Given the description of an element on the screen output the (x, y) to click on. 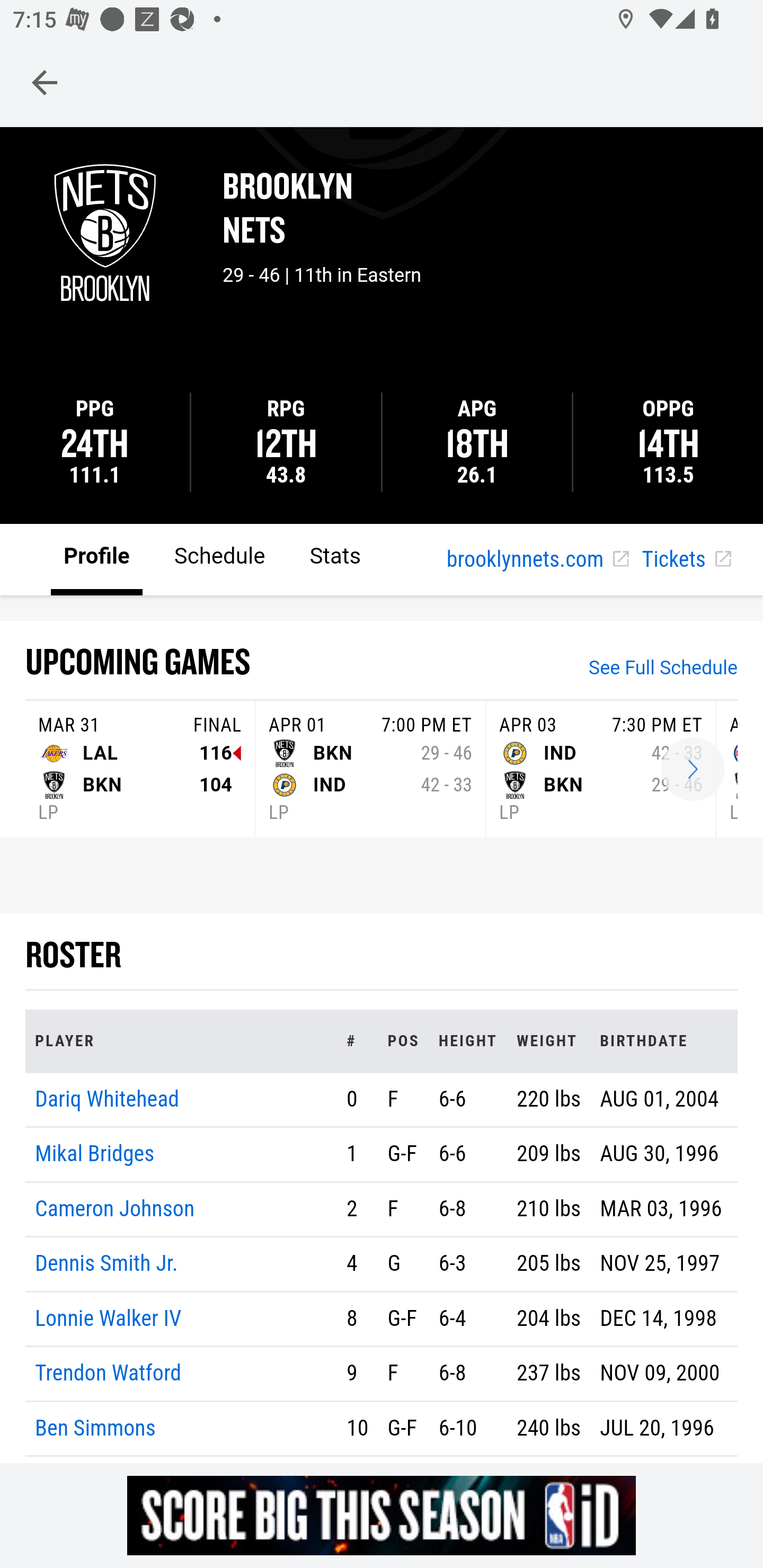
Navigate up (44, 82)
Profile (97, 558)
Schedule (219, 558)
Stats (335, 558)
brooklynnets.com (536, 560)
Tickets (685, 560)
See Full Schedule (662, 669)
Match-up Scores (692, 769)
Dariq Whitehead (107, 1098)
Mikal Bridges (95, 1154)
Cameron Johnson (115, 1207)
Dennis Smith Jr. (106, 1264)
Lonnie Walker IV (109, 1317)
Trendon Watford (109, 1374)
Ben Simmons (95, 1427)
g5nqqygr7owph (381, 1515)
